Given the description of an element on the screen output the (x, y) to click on. 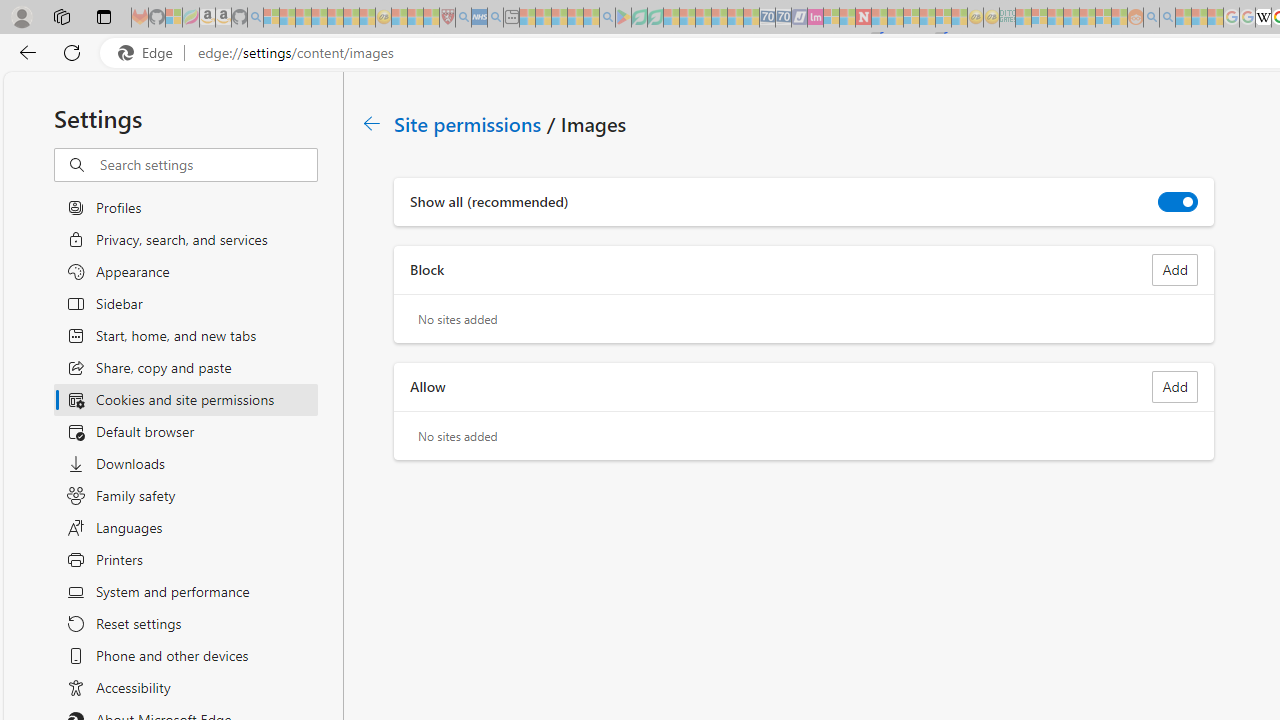
Show all (recommended) (1178, 201)
